Given the description of an element on the screen output the (x, y) to click on. 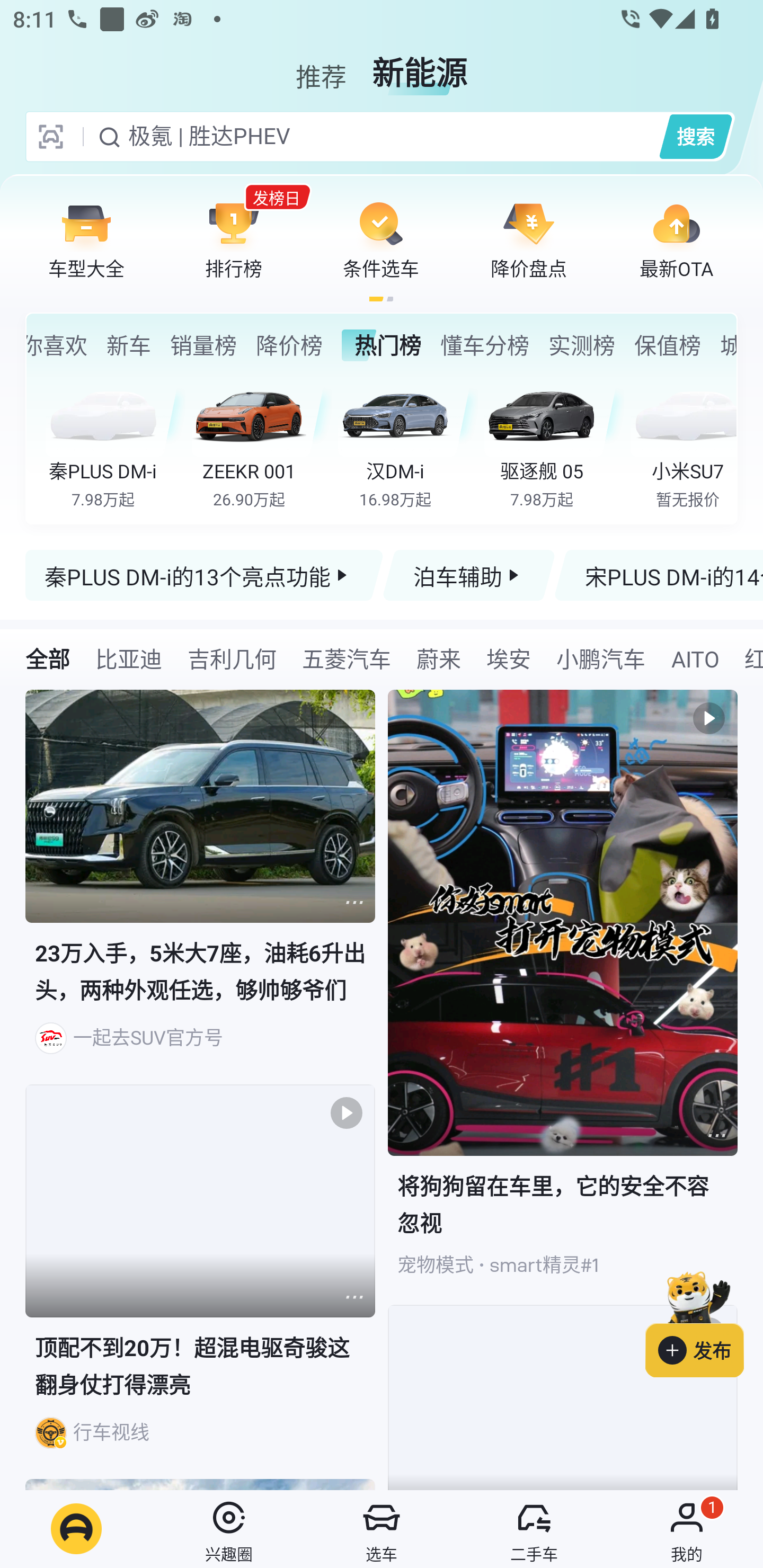
推荐 (321, 65)
新能源 (419, 65)
搜索 (695, 136)
车型大全 (86, 238)
发榜日 排行榜 (233, 238)
条件选车 (380, 238)
降价盘点 (528, 238)
最新OTA (676, 238)
猜你喜欢 (56, 344)
新车 (128, 344)
销量榜 (203, 344)
降价榜 (288, 344)
热门榜 (381, 344)
懂车分榜 (484, 344)
实测榜 (581, 344)
保值榜 (667, 344)
秦PLUS DM-i 7.98万起 (115, 442)
ZEEKR 001 26.90万起 (261, 442)
汉DM-i 16.98万起 (407, 442)
驱逐舰 05 7.98万起 (554, 442)
小米SU7 暂无报价 (683, 442)
秦PLUS DM-i的13个亮点功能 (204, 575)
泊车辅助 (468, 575)
宋PLUS DM-i的14个亮点功能 (658, 575)
全部 (47, 658)
比亚迪 (128, 658)
吉利几何 (231, 658)
五菱汽车 (346, 658)
蔚来 (438, 658)
埃安 (508, 658)
小鹏汽车 (600, 658)
AITO (694, 658)
 23万入手，5米大7座，油耗6升出头，两种外观任选，够帅够爷们 一起去SUV官方号 (200, 887)
  将狗狗留在车里，它的安全不容忽视 宠物模式 smart精灵#1 (562, 996)
 (354, 902)
  顶配不到20万！超混电驱奇骏这翻身仗打得漂亮 行车视线 (200, 1281)
 (716, 1135)
smart精灵#1 (543, 1265)
发布 (704, 1320)
 (354, 1296)
 兴趣圈 (228, 1528)
 选车 (381, 1528)
 二手车 (533, 1528)
 我的 (686, 1528)
